Given the description of an element on the screen output the (x, y) to click on. 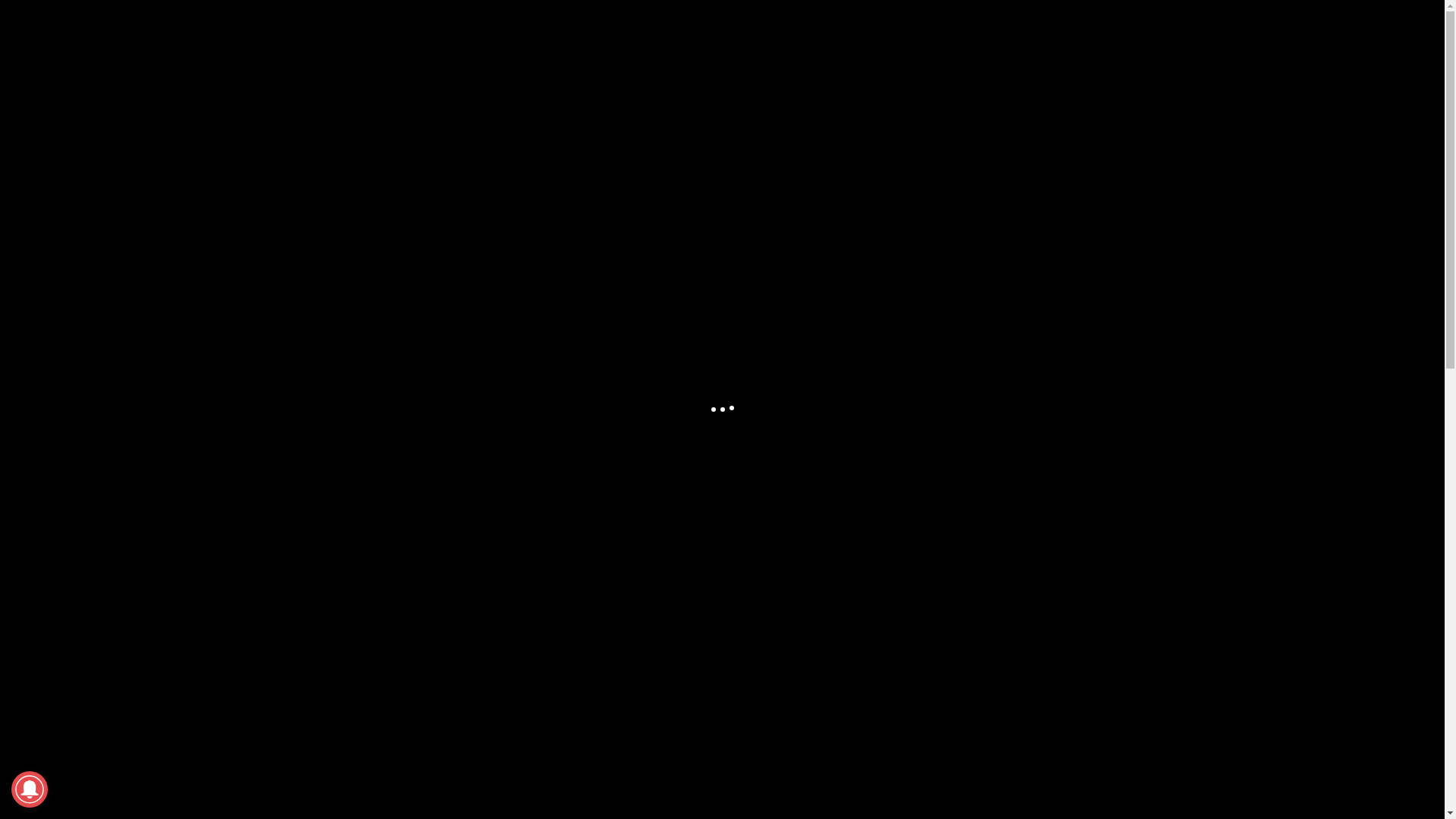
Search Element type: text (44, 20)
